Given the description of an element on the screen output the (x, y) to click on. 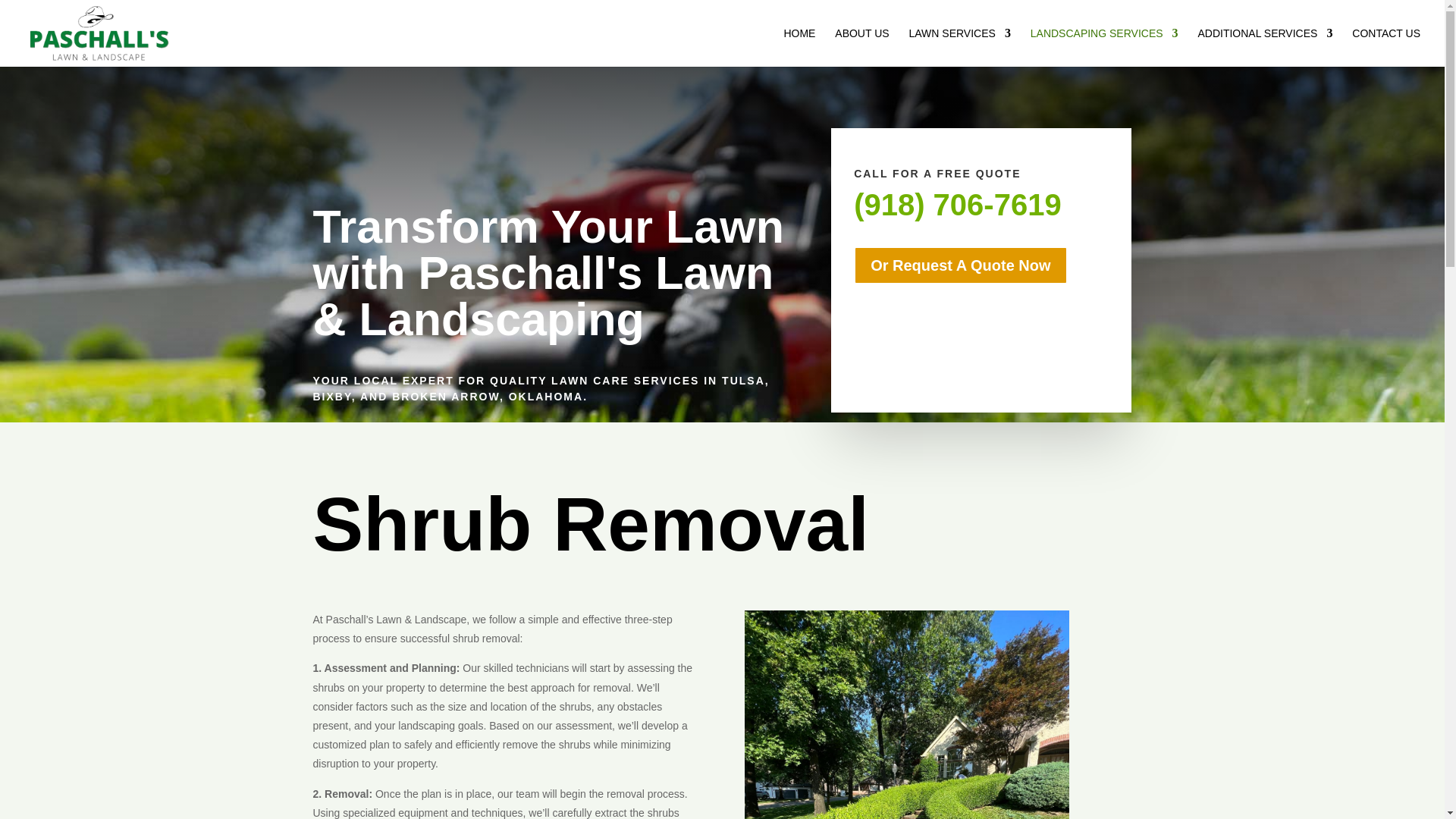
LAWN SERVICES (959, 46)
CONTACT US (1386, 46)
Paschalls-Lawn-and-Landscaping-Tulsa-Bixby-Oklahoma-97 (906, 714)
ABOUT US (861, 46)
ADDITIONAL SERVICES (1264, 46)
LANDSCAPING SERVICES (1103, 46)
